Given the description of an element on the screen output the (x, y) to click on. 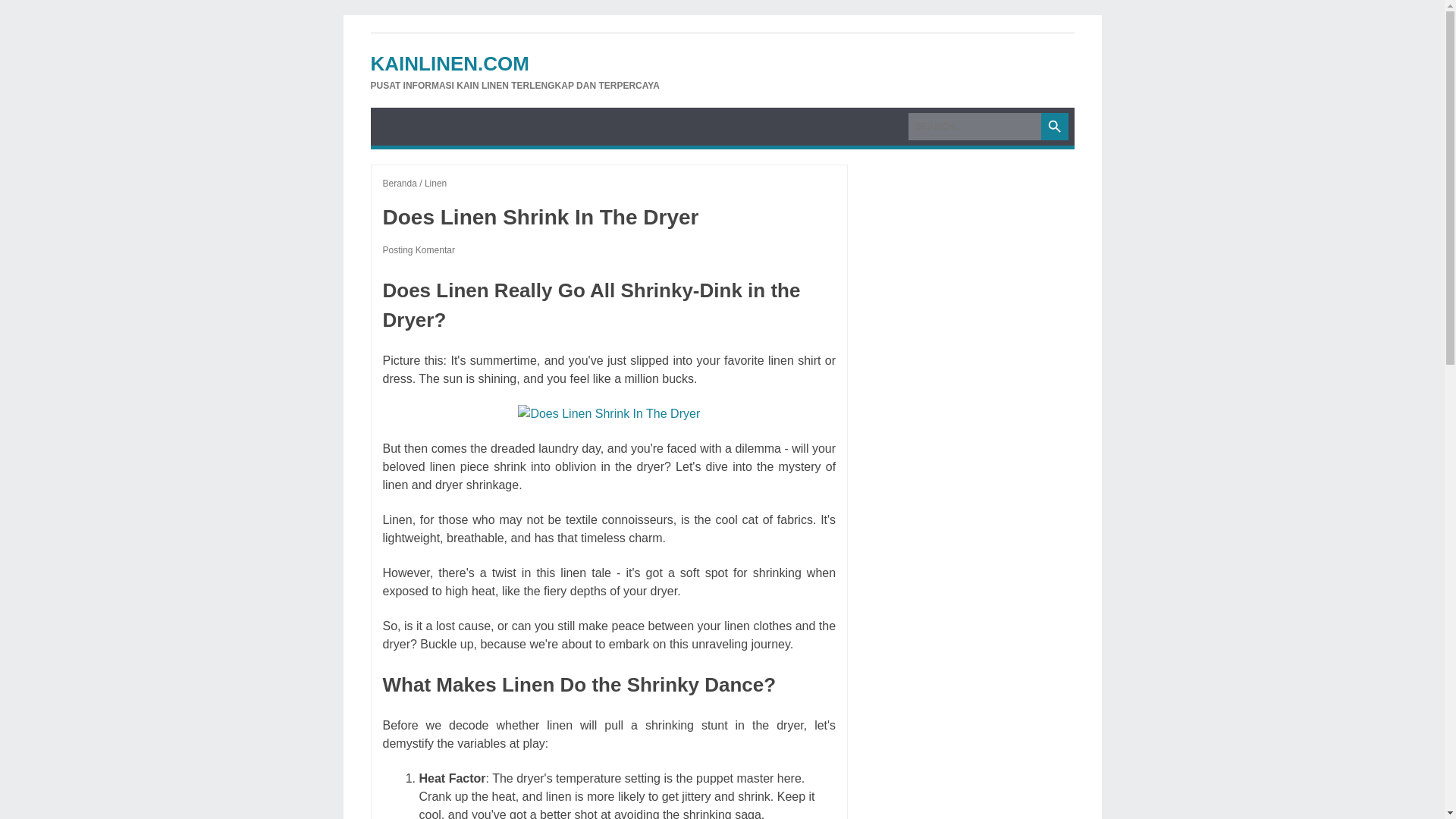
Does Linen Shrink In The Dryer (609, 413)
KAINLINEN.COM (448, 63)
Posting Komentar (417, 249)
Beranda (398, 183)
KainLinen.com (448, 63)
Linen (435, 183)
Home (398, 183)
Linen (435, 183)
Search... (974, 126)
